Given the description of an element on the screen output the (x, y) to click on. 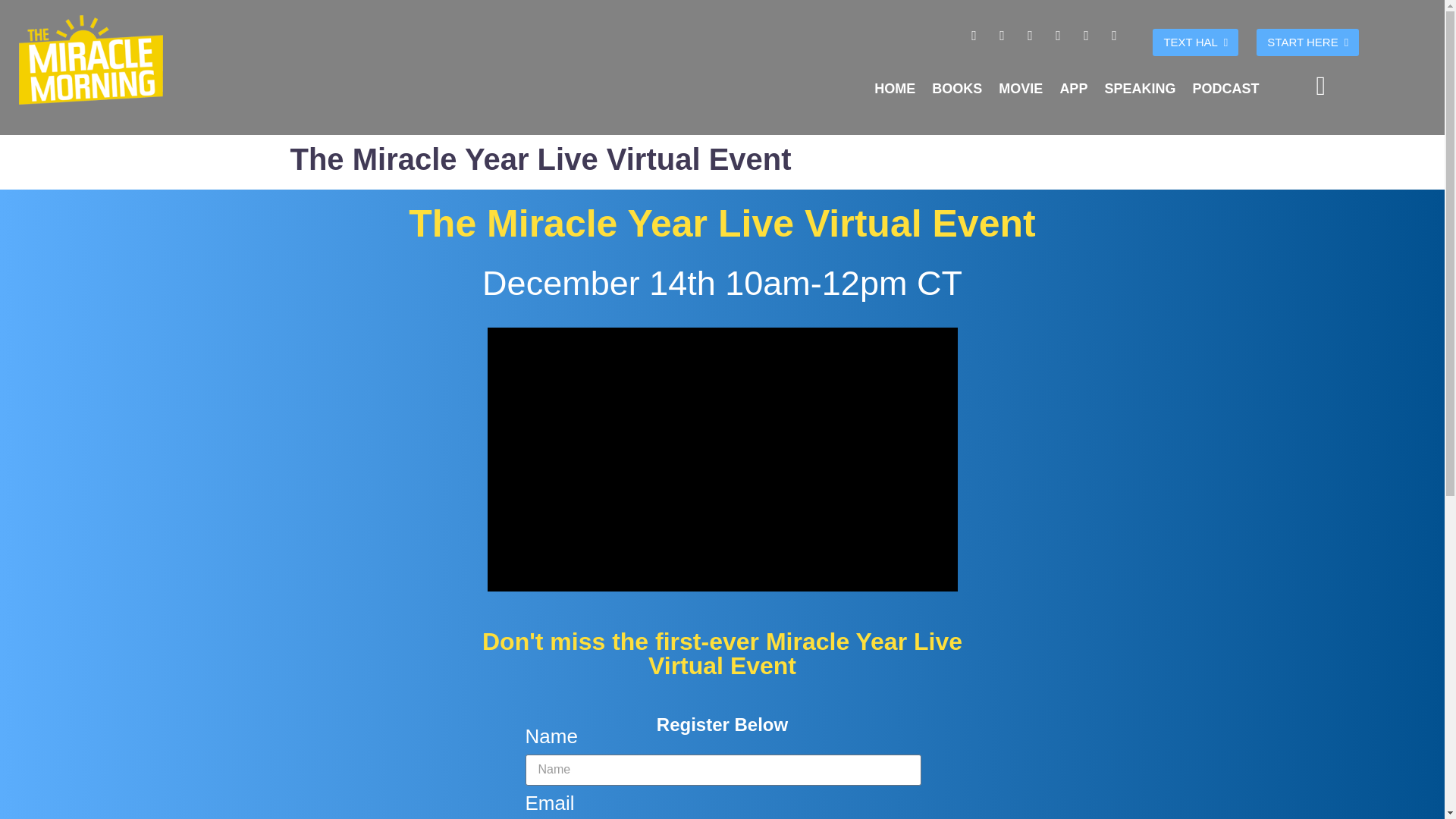
APP (1073, 88)
PODCAST (1224, 88)
TEXT HAL (1196, 42)
MOVIE (1020, 88)
vimeo Video Player (721, 459)
HOME (894, 88)
START HERE (1307, 42)
SPEAKING (1139, 88)
BOOKS (956, 88)
